Given the description of an element on the screen output the (x, y) to click on. 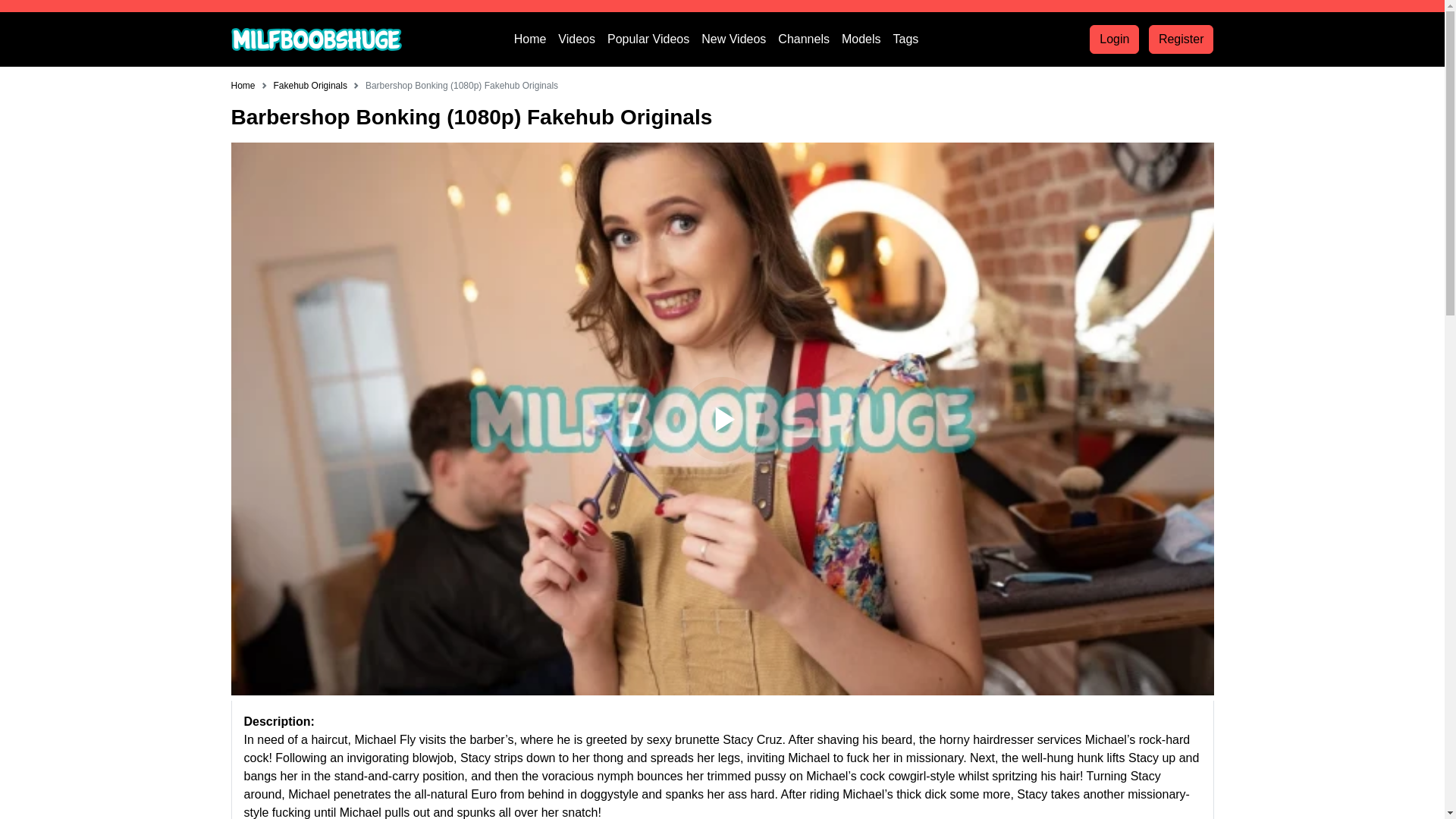
Popular Videos (654, 39)
Login (1113, 39)
Channels (809, 39)
Register (1181, 39)
Videos (582, 39)
New Videos (739, 39)
Tags (912, 39)
Home (242, 85)
Fakehub Originals (310, 85)
Home (536, 39)
Models (867, 39)
